Given the description of an element on the screen output the (x, y) to click on. 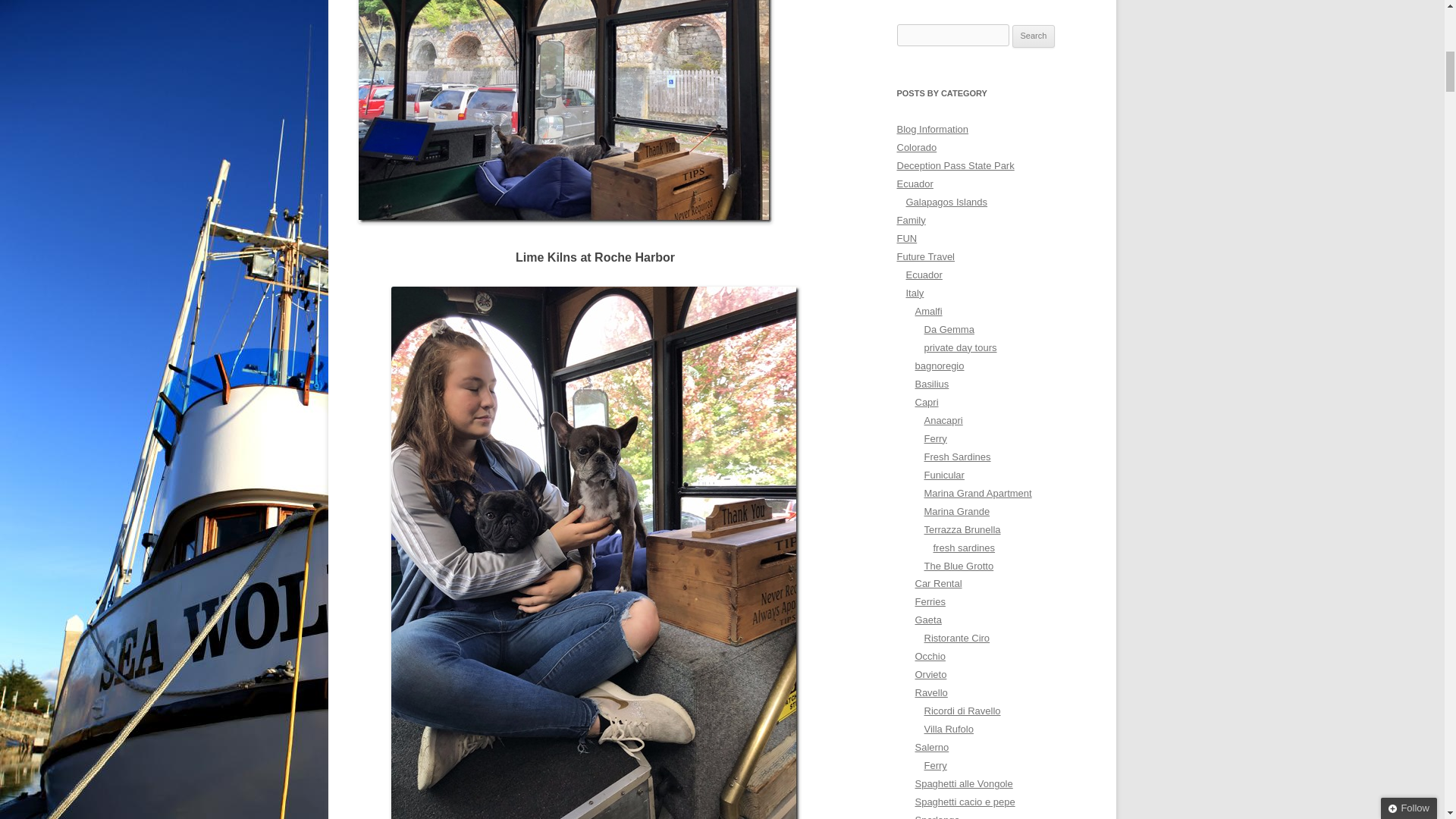
Search (1033, 36)
Email Address (1348, 128)
Sign me up! (1312, 156)
